Given the description of an element on the screen output the (x, y) to click on. 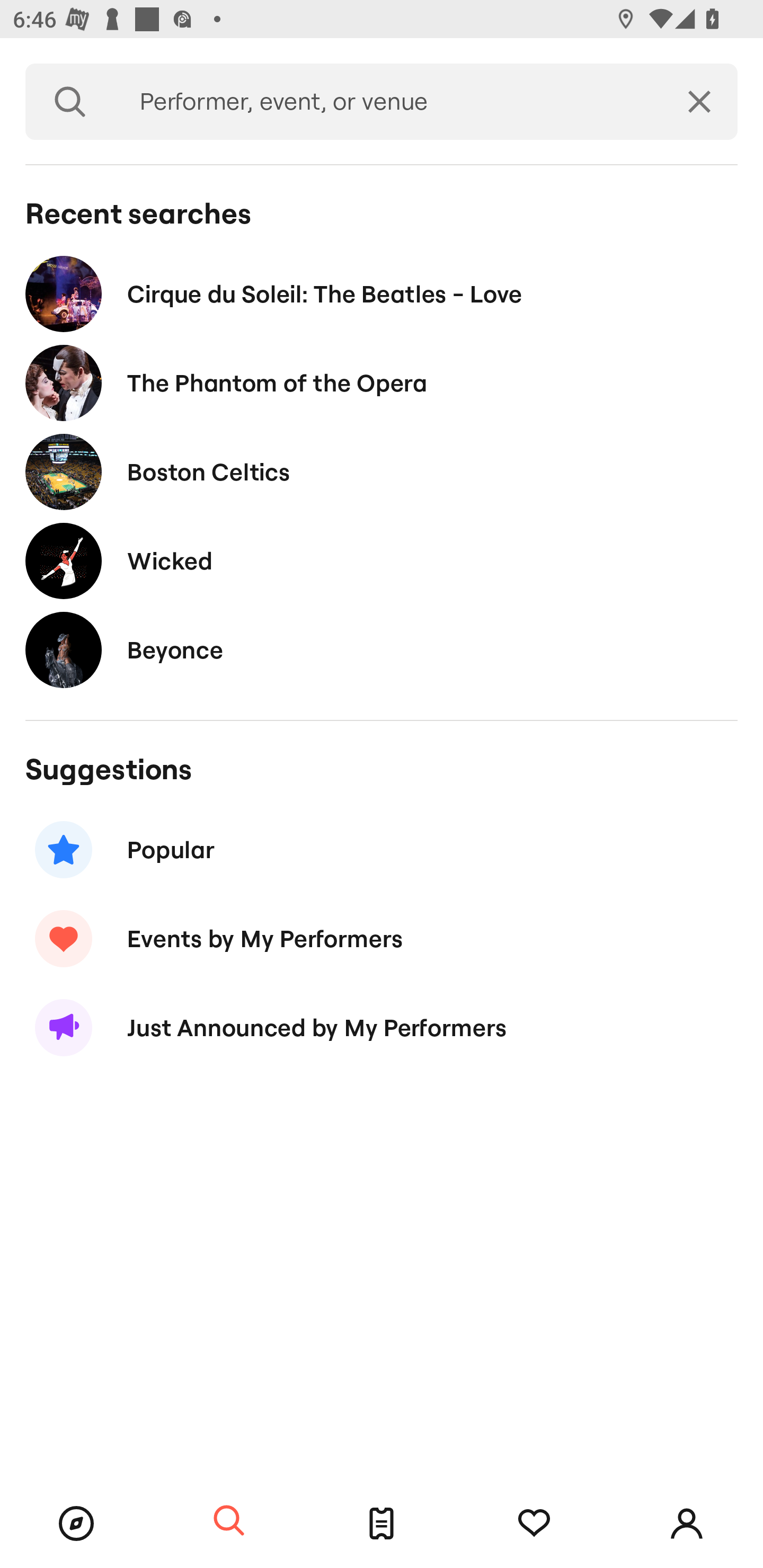
Search (69, 101)
Performer, event, or venue (387, 101)
Clear (699, 101)
Cirque du Soleil: The Beatles - Love (381, 293)
The Phantom of the Opera (381, 383)
Boston Celtics (381, 471)
Wicked (381, 560)
Beyonce (381, 649)
Popular (381, 849)
Events by My Performers (381, 938)
Just Announced by My Performers (381, 1027)
Browse (76, 1523)
Search (228, 1521)
Tickets (381, 1523)
Tracking (533, 1523)
Account (686, 1523)
